Given the description of an element on the screen output the (x, y) to click on. 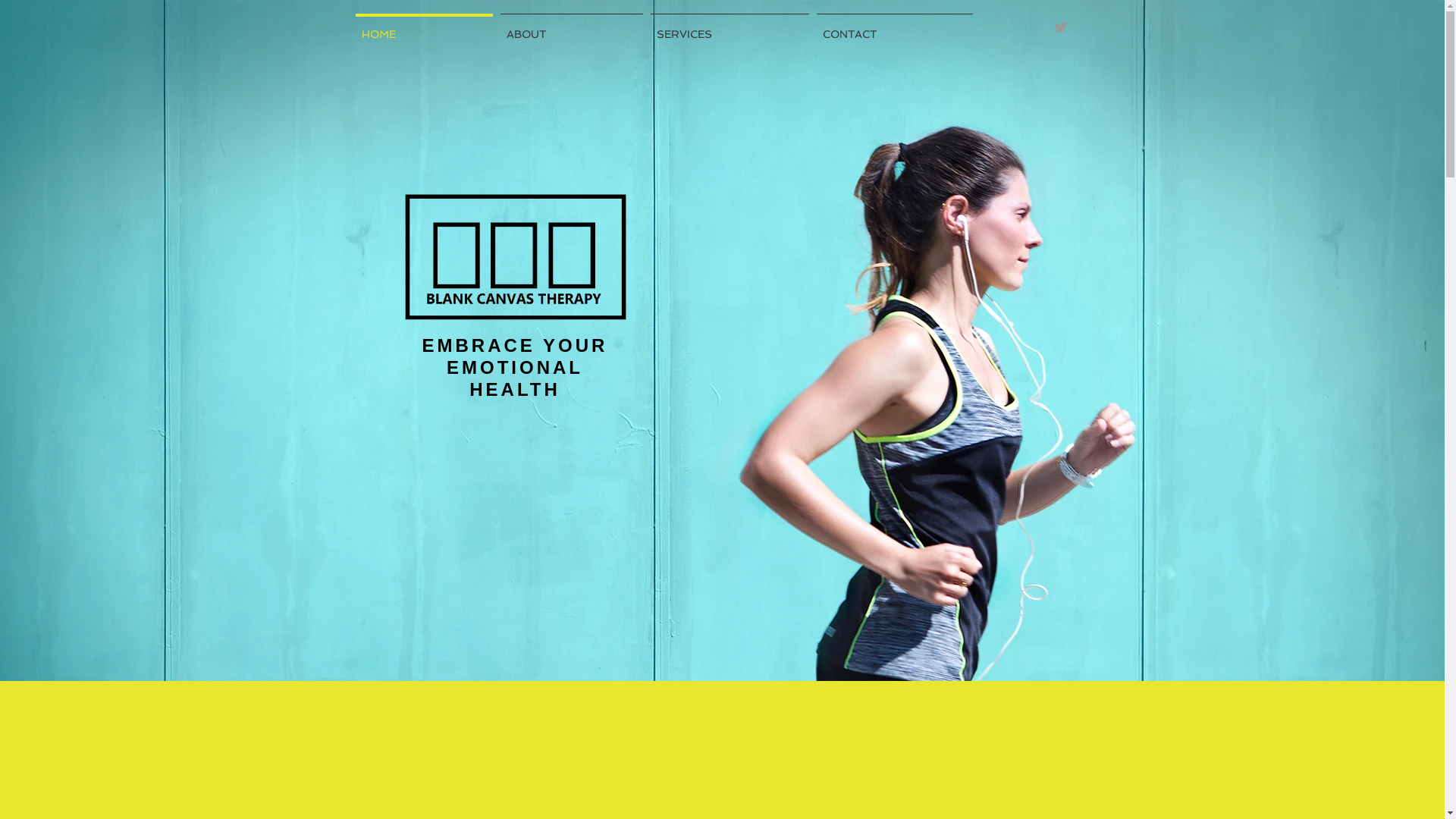
SERVICES Element type: text (729, 26)
ABOUT Element type: text (570, 26)
HOME Element type: text (423, 26)
CONTACT Element type: text (894, 26)
